Given the description of an element on the screen output the (x, y) to click on. 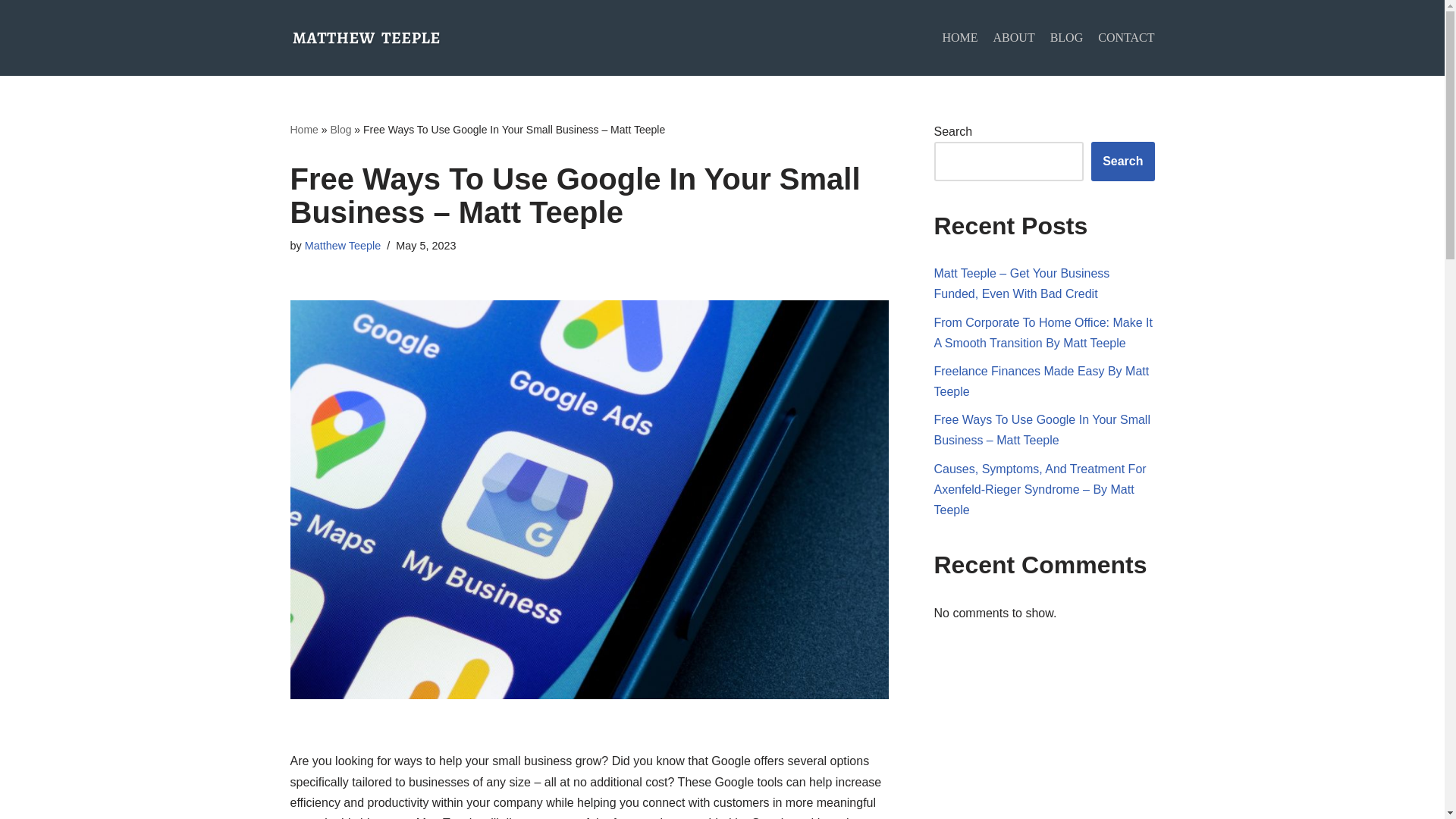
Home (303, 129)
Freelance Finances Made Easy By Matt Teeple (1042, 381)
Matthew Teeple (342, 245)
BLOG (1066, 37)
HOME (959, 37)
CONTACT (1125, 37)
Skip to content (11, 31)
ABOUT (1013, 37)
Posts by Matthew Teeple (342, 245)
Search (1122, 160)
Matthew Teeple (365, 37)
Blog (340, 129)
